Given the description of an element on the screen output the (x, y) to click on. 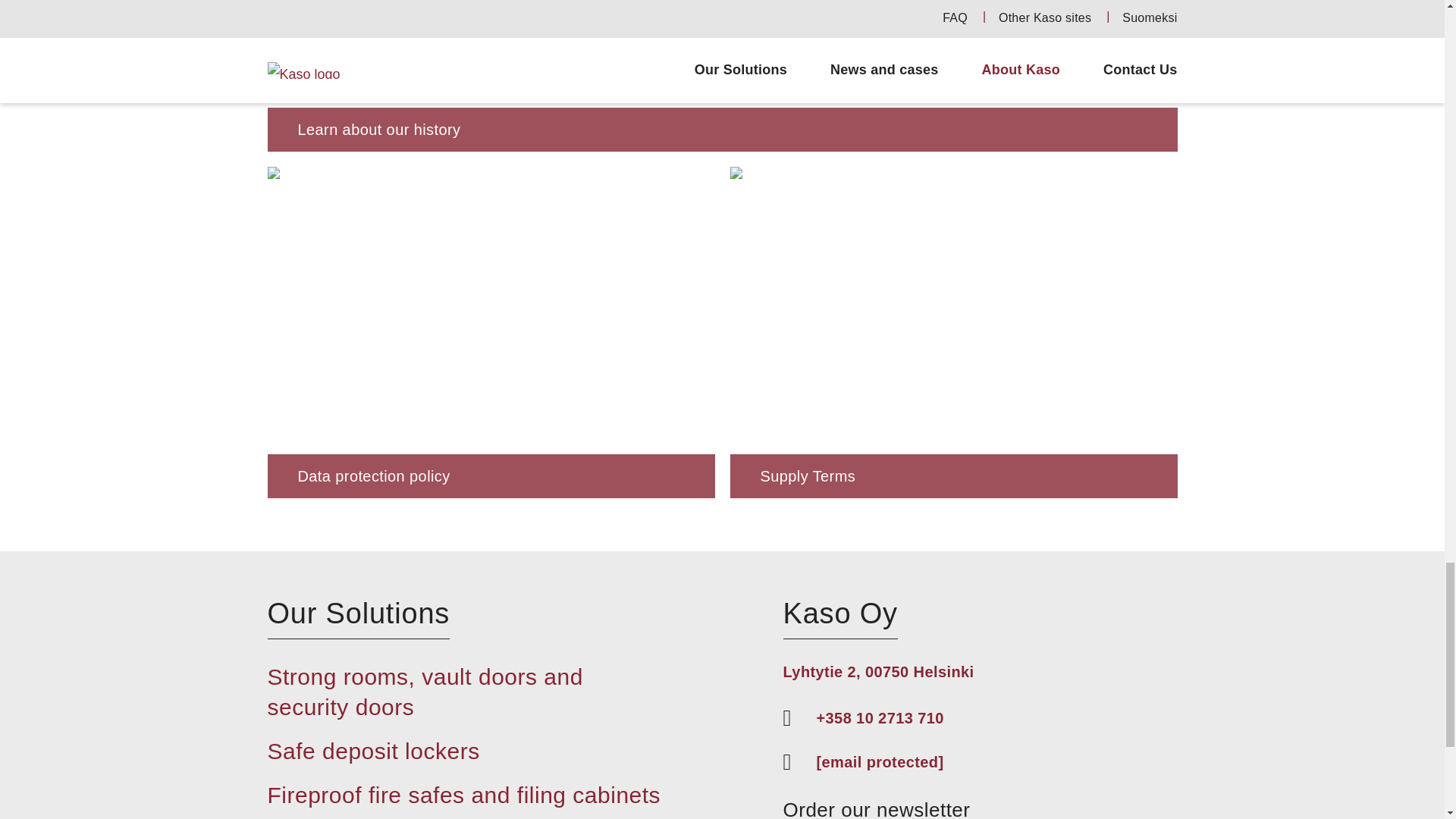
Fireproof fire safes and filing cabinets (463, 794)
Safe deposit lockers (372, 750)
Strong rooms, vault doors and security doors (424, 691)
